Given the description of an element on the screen output the (x, y) to click on. 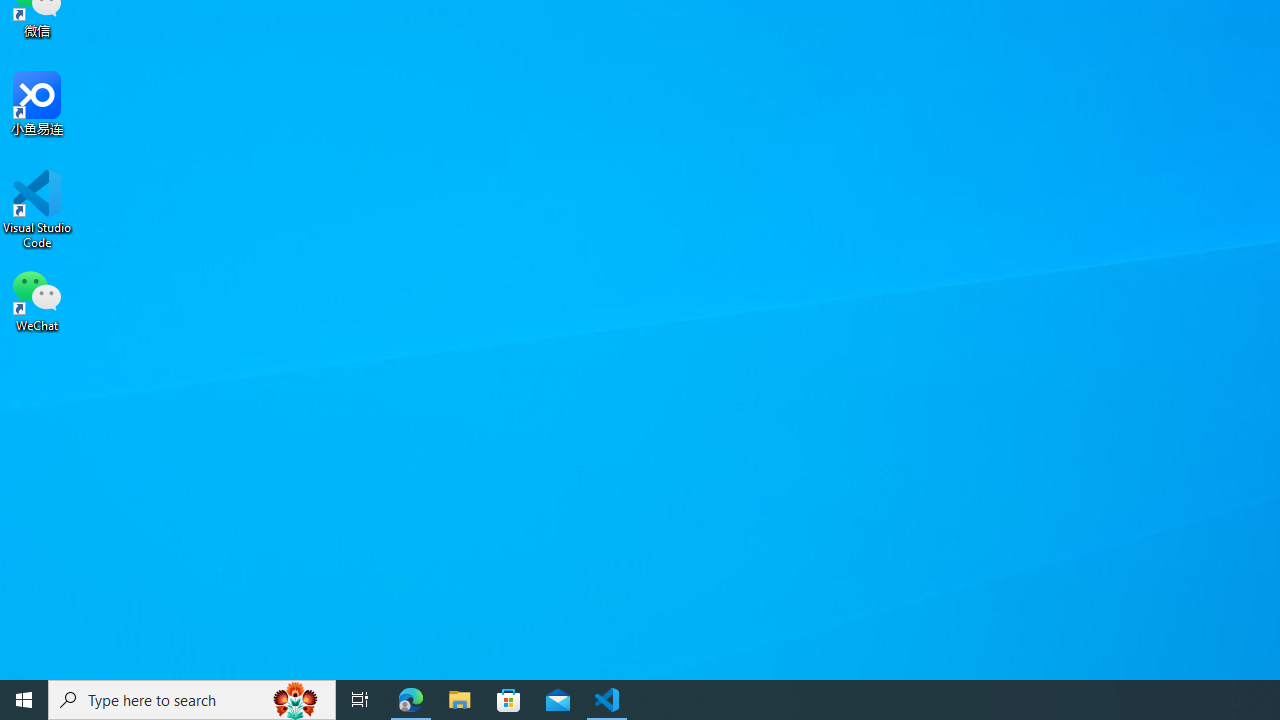
Microsoft Store (509, 699)
Microsoft Edge - 1 running window (411, 699)
File Explorer (460, 699)
Start (24, 699)
Search highlights icon opens search home window (295, 699)
Visual Studio Code (37, 209)
Type here to search (191, 699)
Visual Studio Code - 1 running window (607, 699)
Task View (359, 699)
WeChat (37, 299)
